Given the description of an element on the screen output the (x, y) to click on. 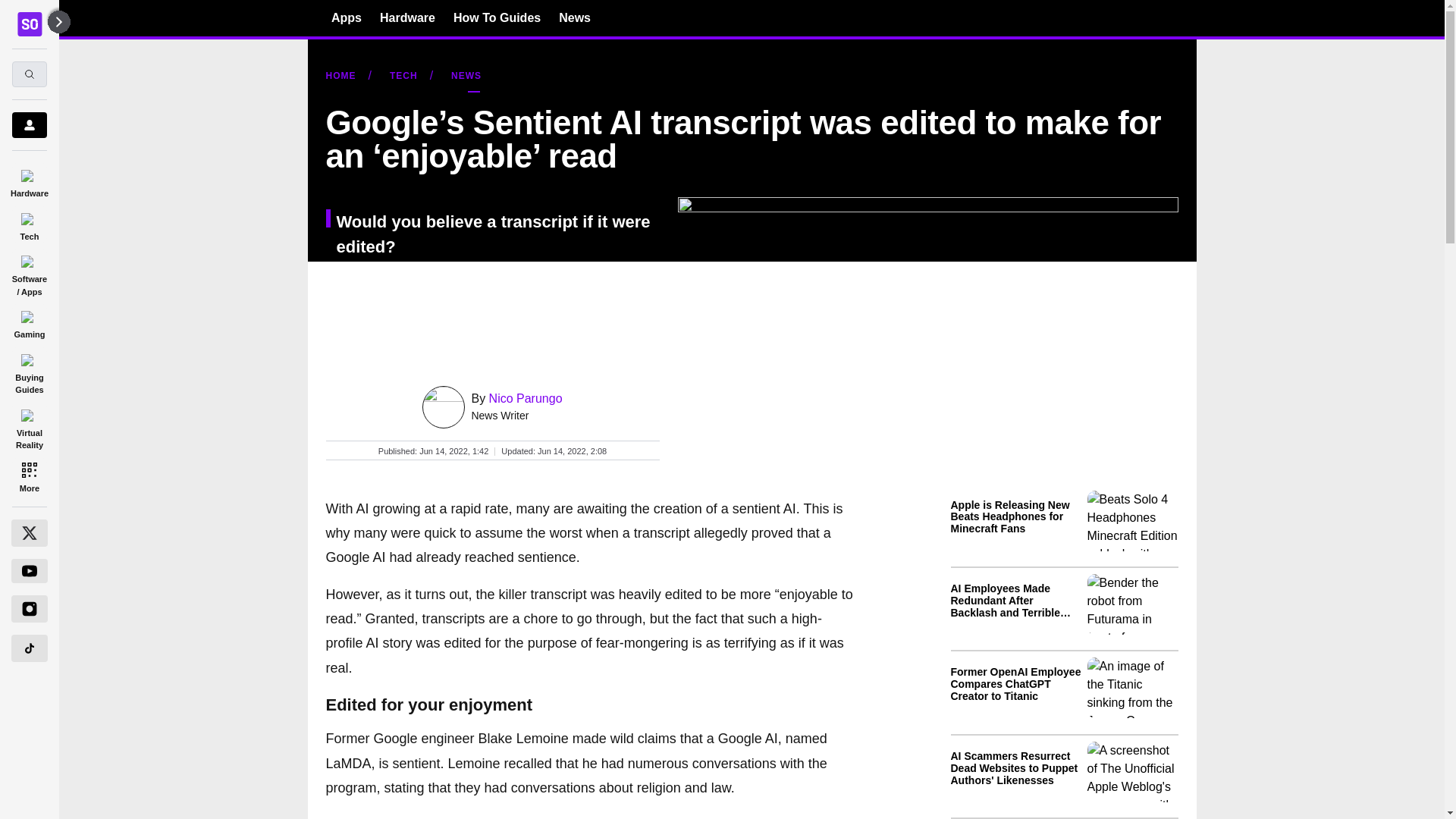
Hardware (407, 18)
Apps (346, 18)
Gaming (28, 322)
Hardware (28, 180)
More (28, 476)
News (575, 18)
How To Guides (496, 18)
Tech (28, 224)
